Given the description of an element on the screen output the (x, y) to click on. 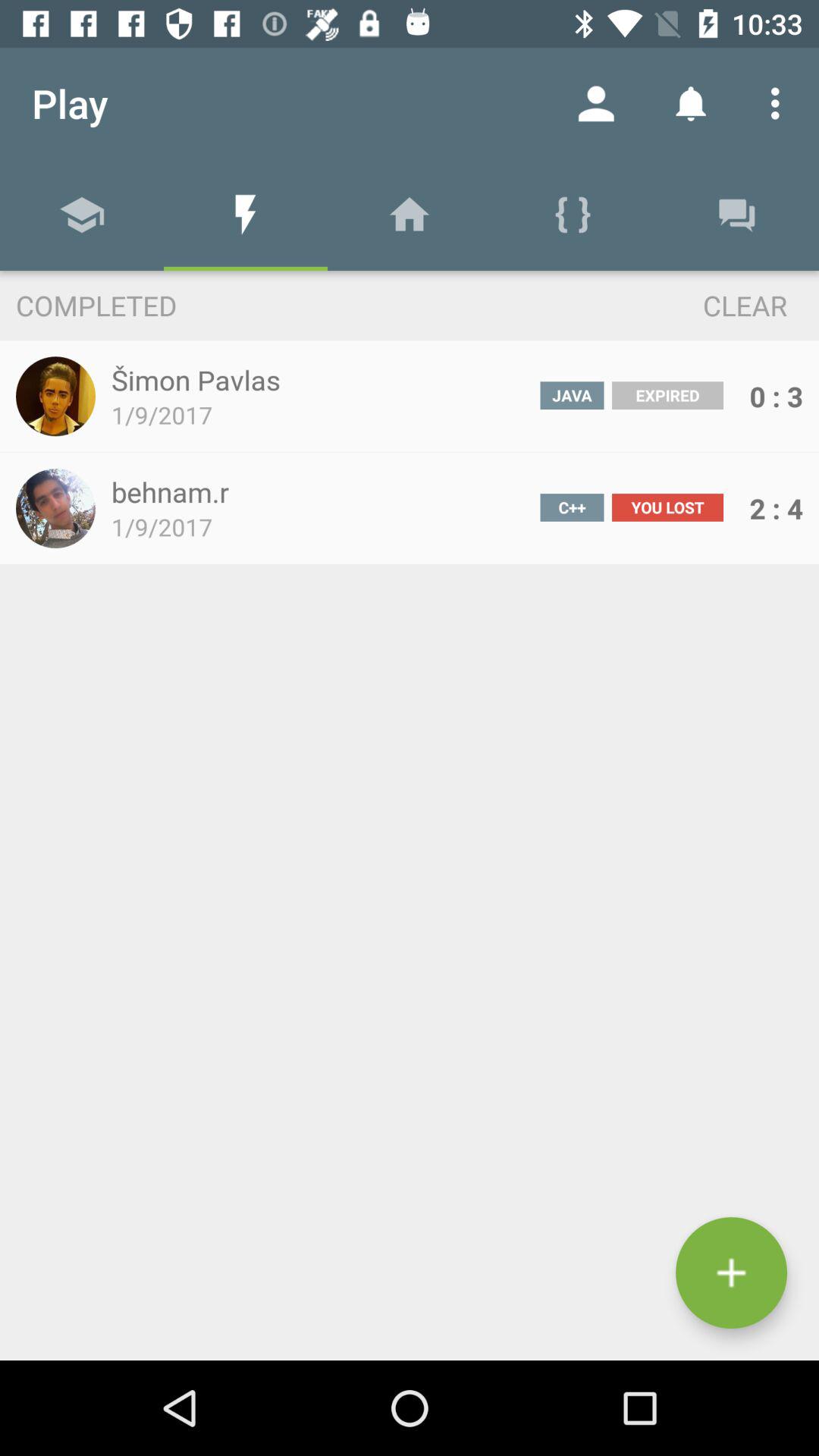
open the clear item (717, 305)
